Given the description of an element on the screen output the (x, y) to click on. 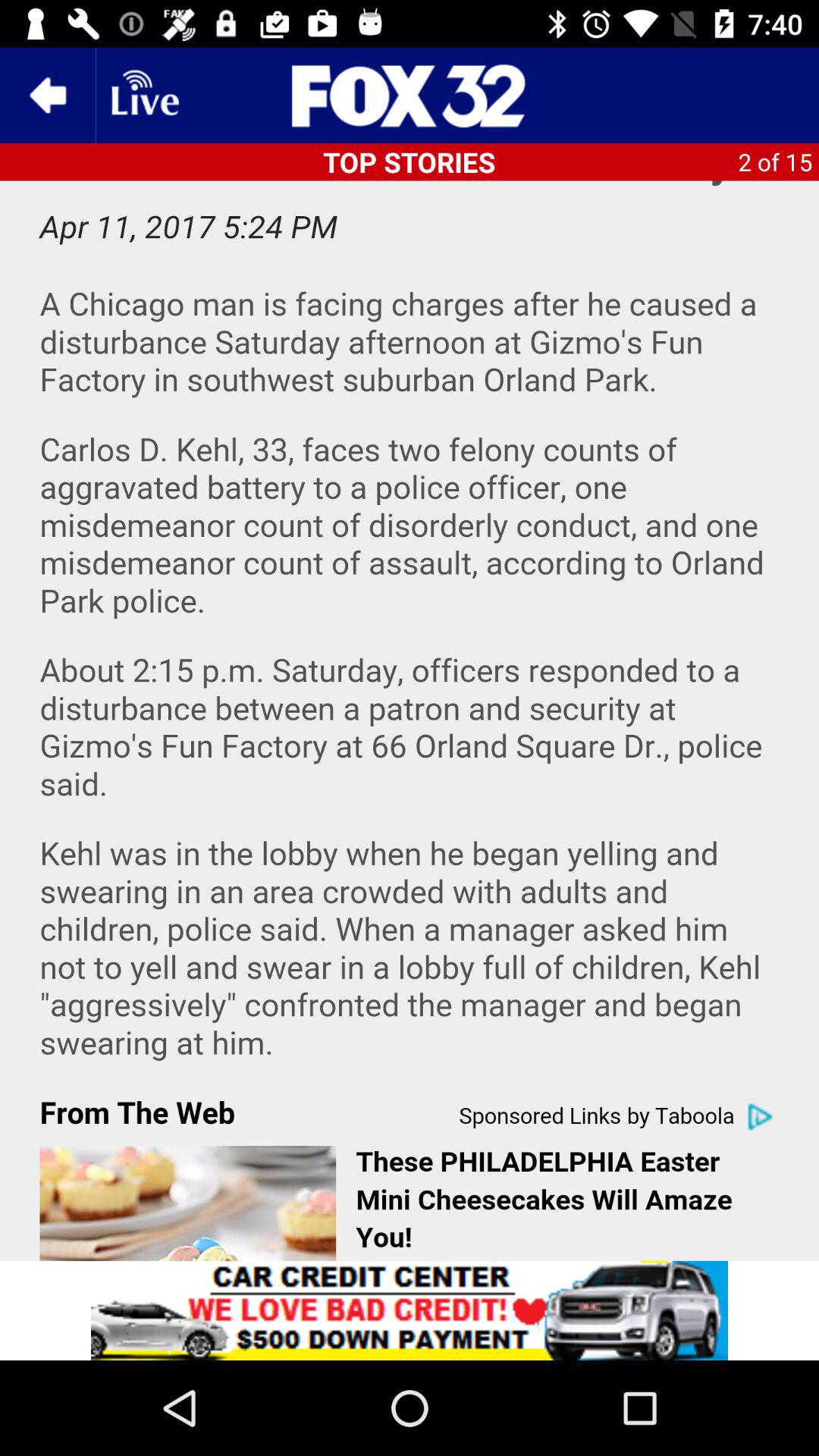
advertisement (409, 95)
